Given the description of an element on the screen output the (x, y) to click on. 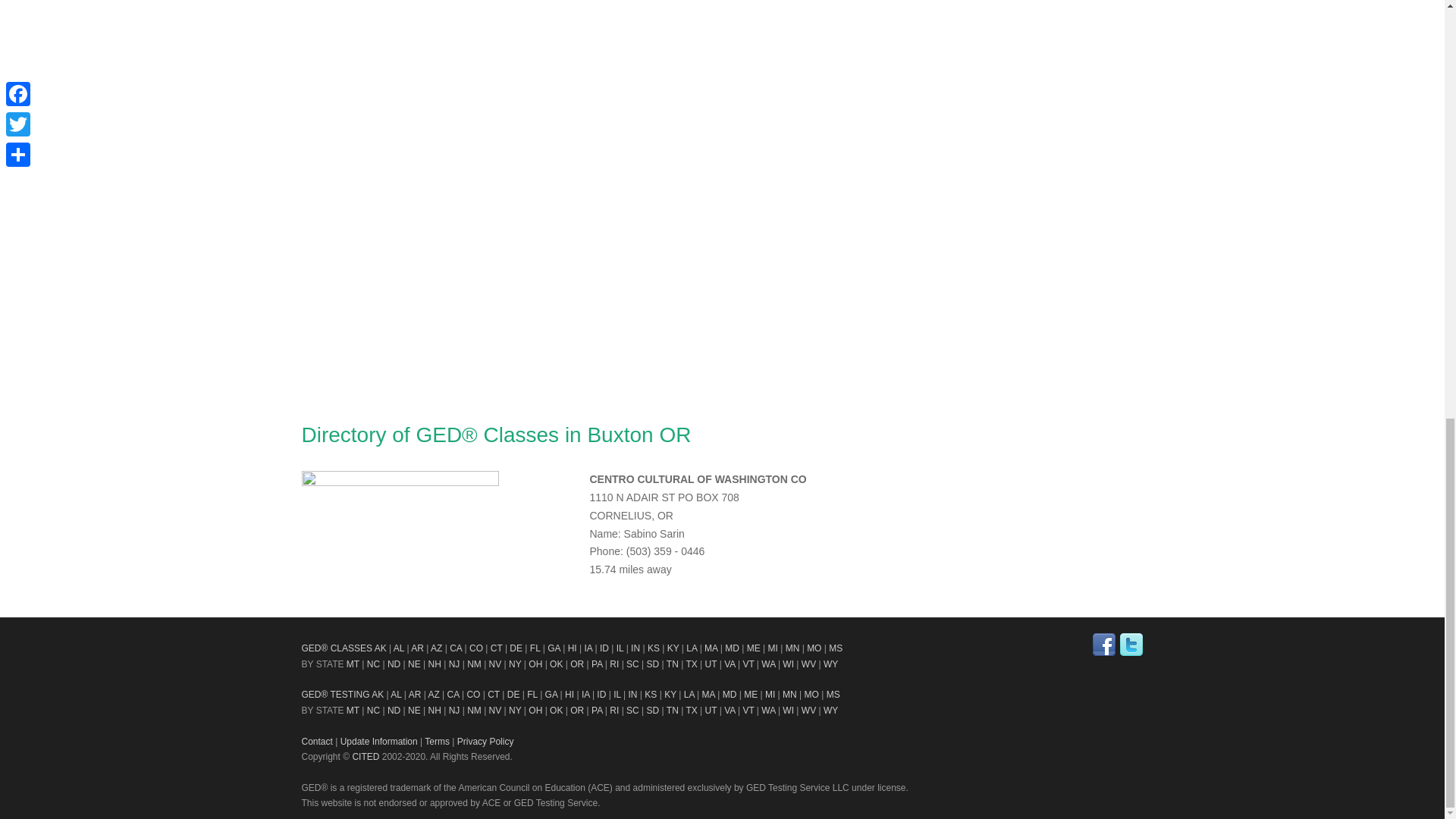
NJ (454, 664)
MS (835, 647)
NE (413, 664)
MA (710, 647)
AK (380, 647)
ND (393, 664)
KY (672, 647)
DE (515, 647)
MI (772, 647)
GA (553, 647)
AR (416, 647)
CT (496, 647)
LA (691, 647)
KS (653, 647)
Cited Twitter Page (1130, 645)
